Given the description of an element on the screen output the (x, y) to click on. 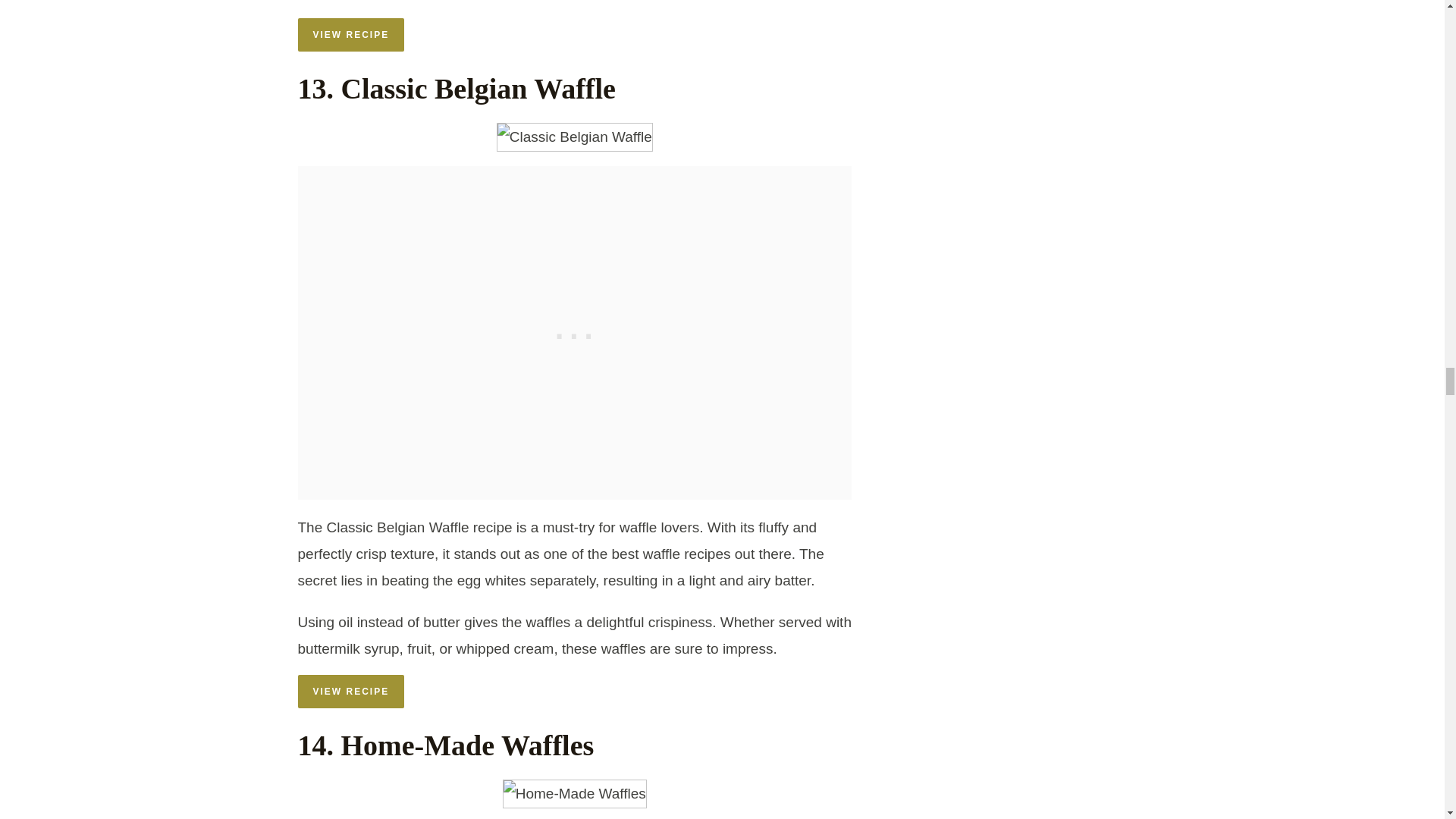
VIEW RECIPE (350, 691)
Classic Belgian Waffle (574, 136)
VIEW RECIPE (350, 34)
Home-Made Waffles (574, 793)
